Given the description of an element on the screen output the (x, y) to click on. 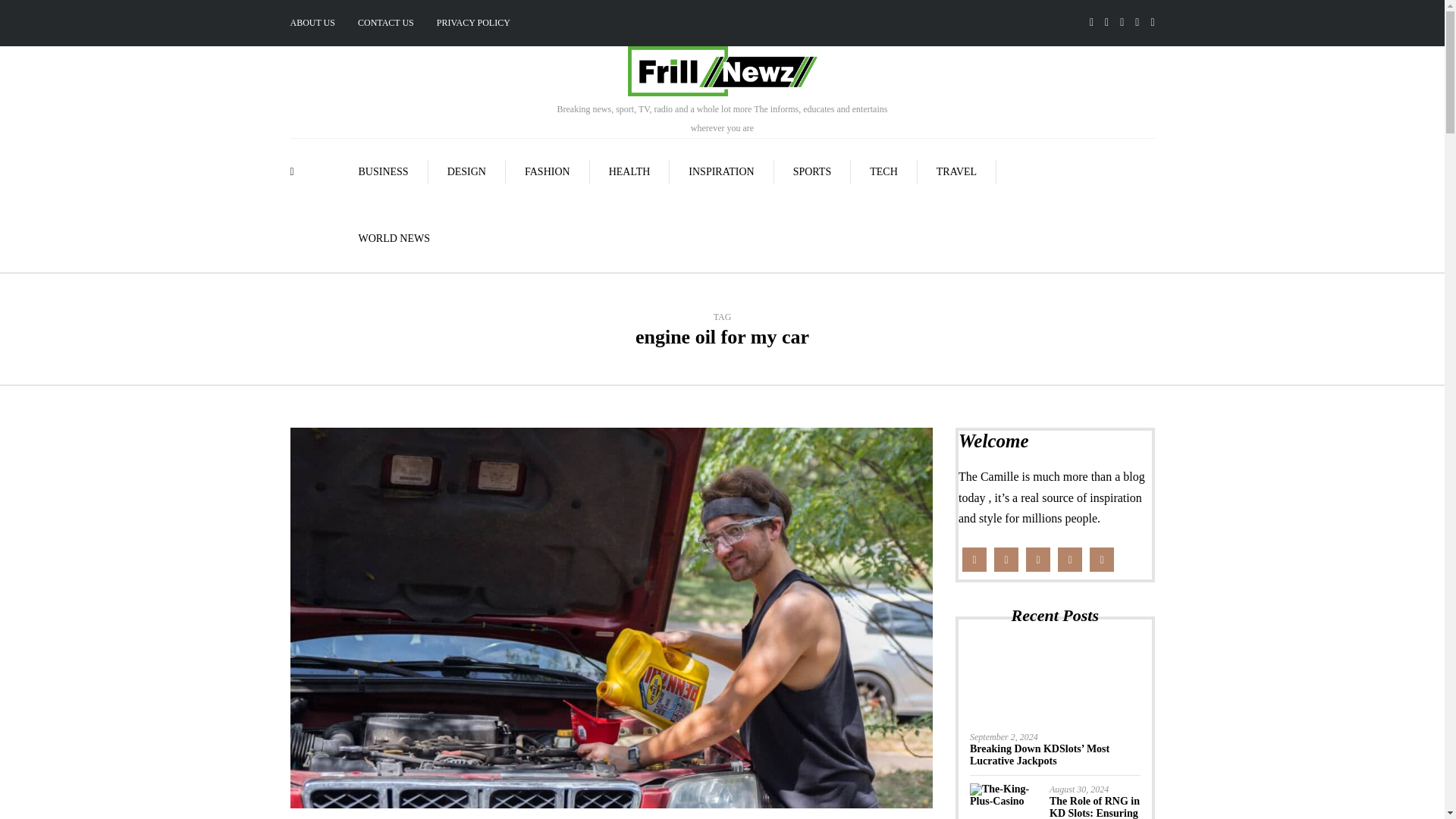
CONTACT US (385, 22)
BUSINESS (383, 171)
TECH (883, 171)
INSPIRATION (721, 171)
WORLD NEWS (394, 238)
FASHION (547, 171)
HEALTH (629, 171)
ABOUT US (317, 22)
SPORTS (812, 171)
DESIGN (466, 171)
